Given the description of an element on the screen output the (x, y) to click on. 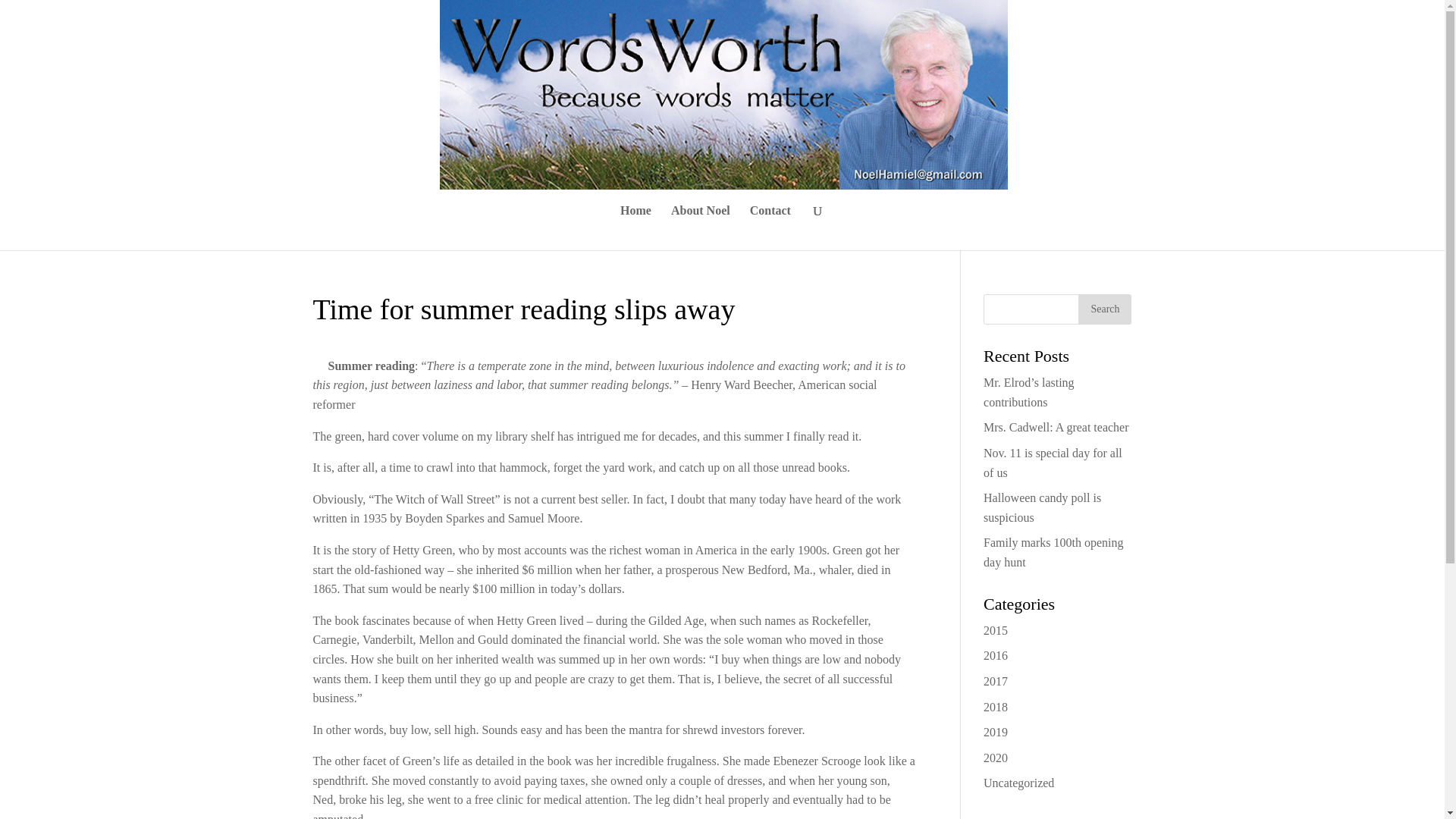
2015 (995, 630)
Search (1104, 309)
About Noel (700, 227)
2019 (995, 731)
Family marks 100th opening day hunt (1053, 552)
2018 (995, 707)
2016 (995, 655)
Mrs. Cadwell: A great teacher (1056, 427)
Halloween candy poll is suspicious (1042, 507)
2020 (995, 757)
